Given the description of an element on the screen output the (x, y) to click on. 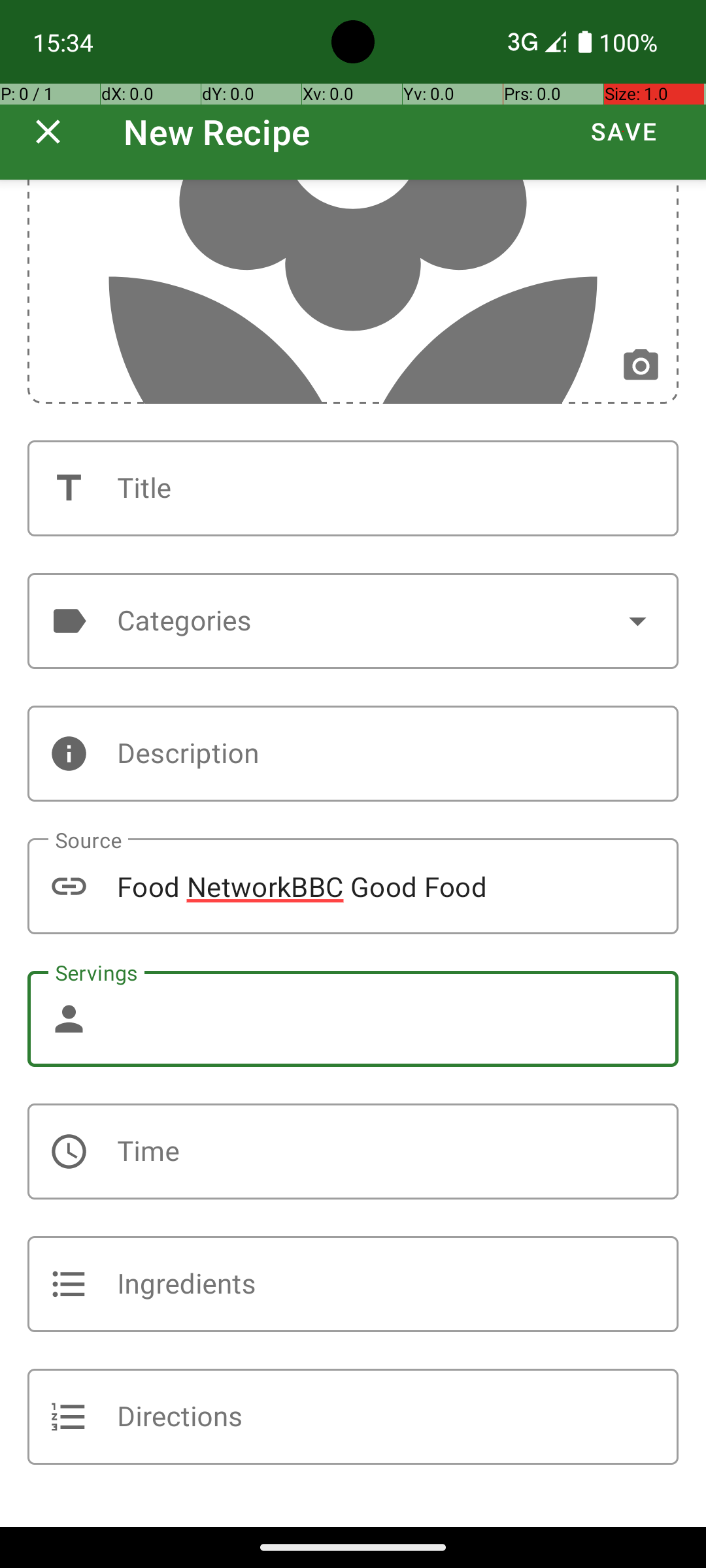
Change photo Element type: android.widget.ImageView (640, 365)
Title Element type: android.widget.EditText (352, 488)
Description Element type: android.widget.EditText (352, 753)
Food NetworkBBC Good Food Element type: android.widget.EditText (352, 886)
